Given the description of an element on the screen output the (x, y) to click on. 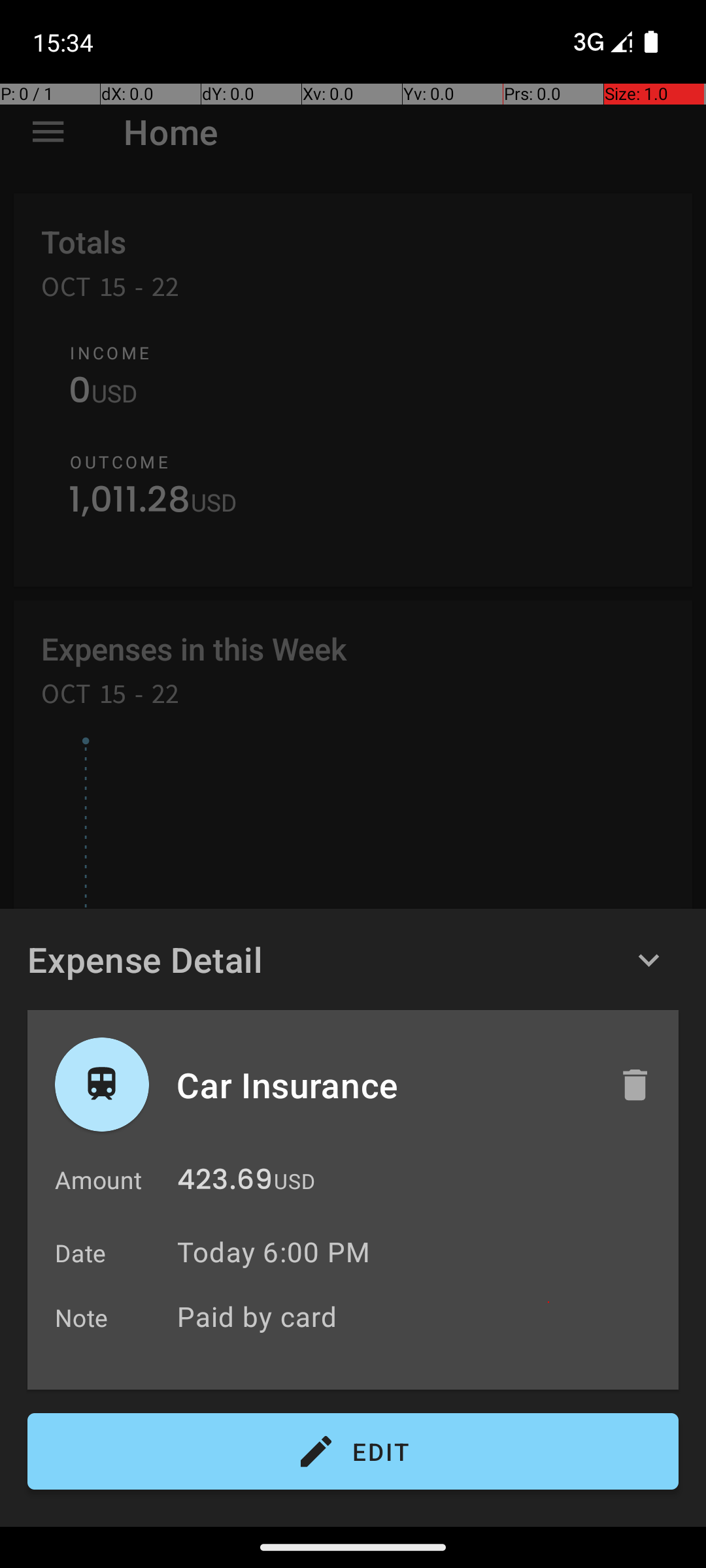
Car Insurance Element type: android.widget.TextView (383, 1084)
423.69 Element type: android.widget.TextView (224, 1182)
Today 6:00 PM Element type: android.widget.TextView (273, 1251)
Paid by card Element type: android.widget.TextView (420, 1315)
